Given the description of an element on the screen output the (x, y) to click on. 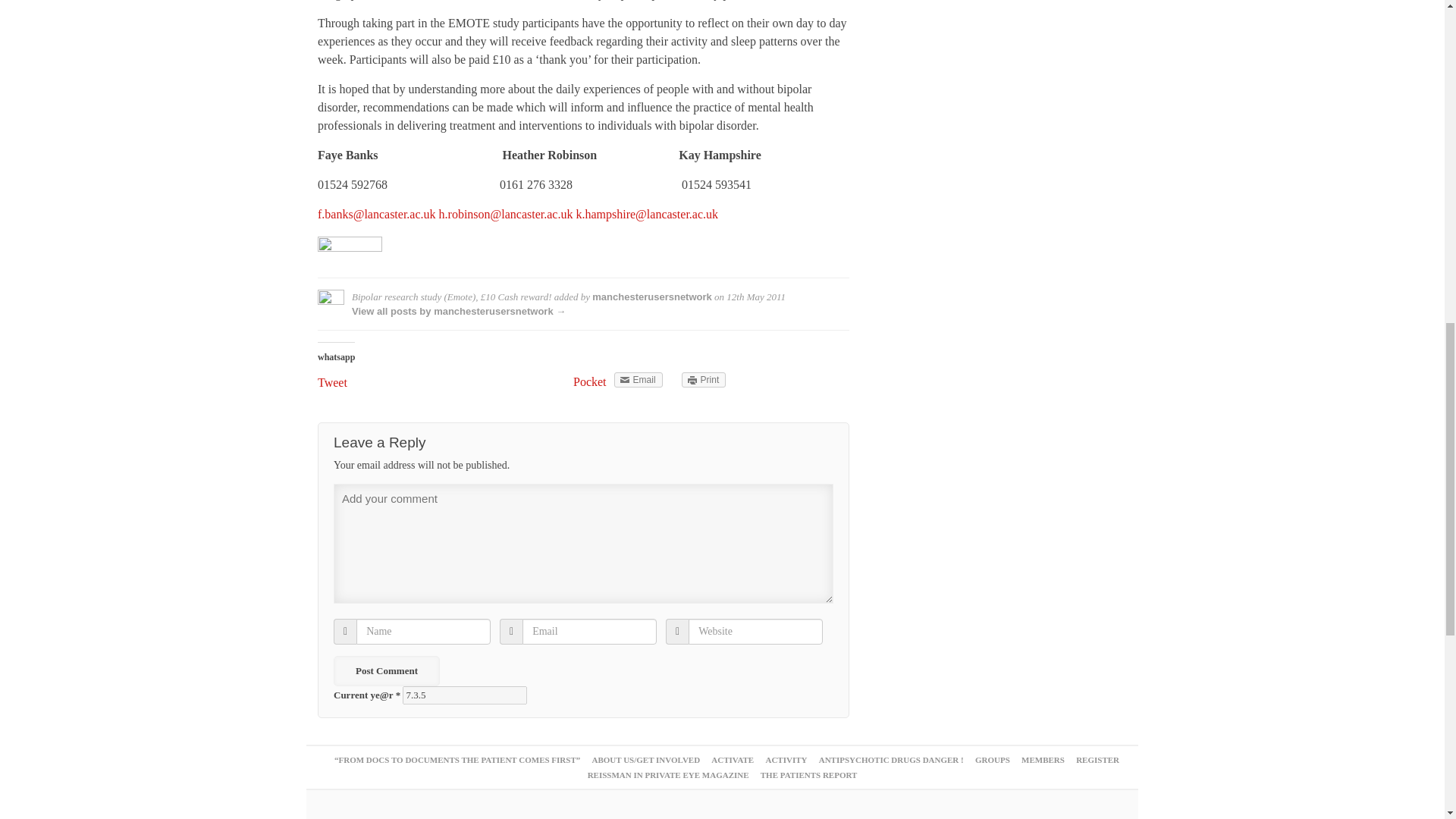
Lanunilogo (349, 255)
manchesterusersnetwork (651, 296)
7.3.5 (465, 695)
Post Comment (386, 671)
Share on Tumblr (542, 379)
Email (638, 379)
Tweet (353, 382)
Print (703, 379)
Pocket (590, 381)
Share on Tumblr (542, 379)
